Given the description of an element on the screen output the (x, y) to click on. 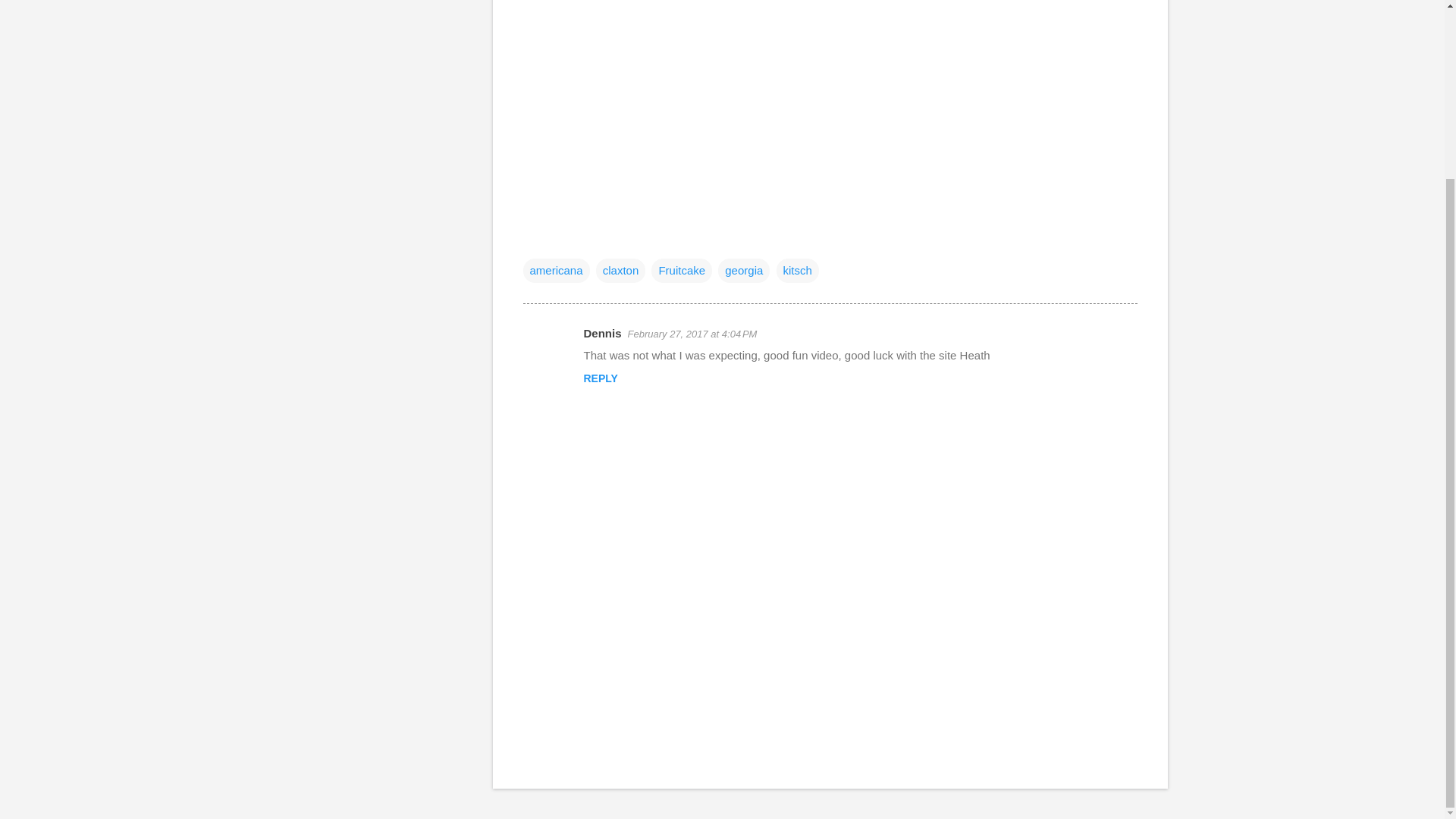
claxton (620, 269)
Dennis (602, 332)
kitsch (797, 269)
REPLY (600, 378)
georgia (743, 269)
Fruitcake (680, 269)
americana (555, 269)
